Given the description of an element on the screen output the (x, y) to click on. 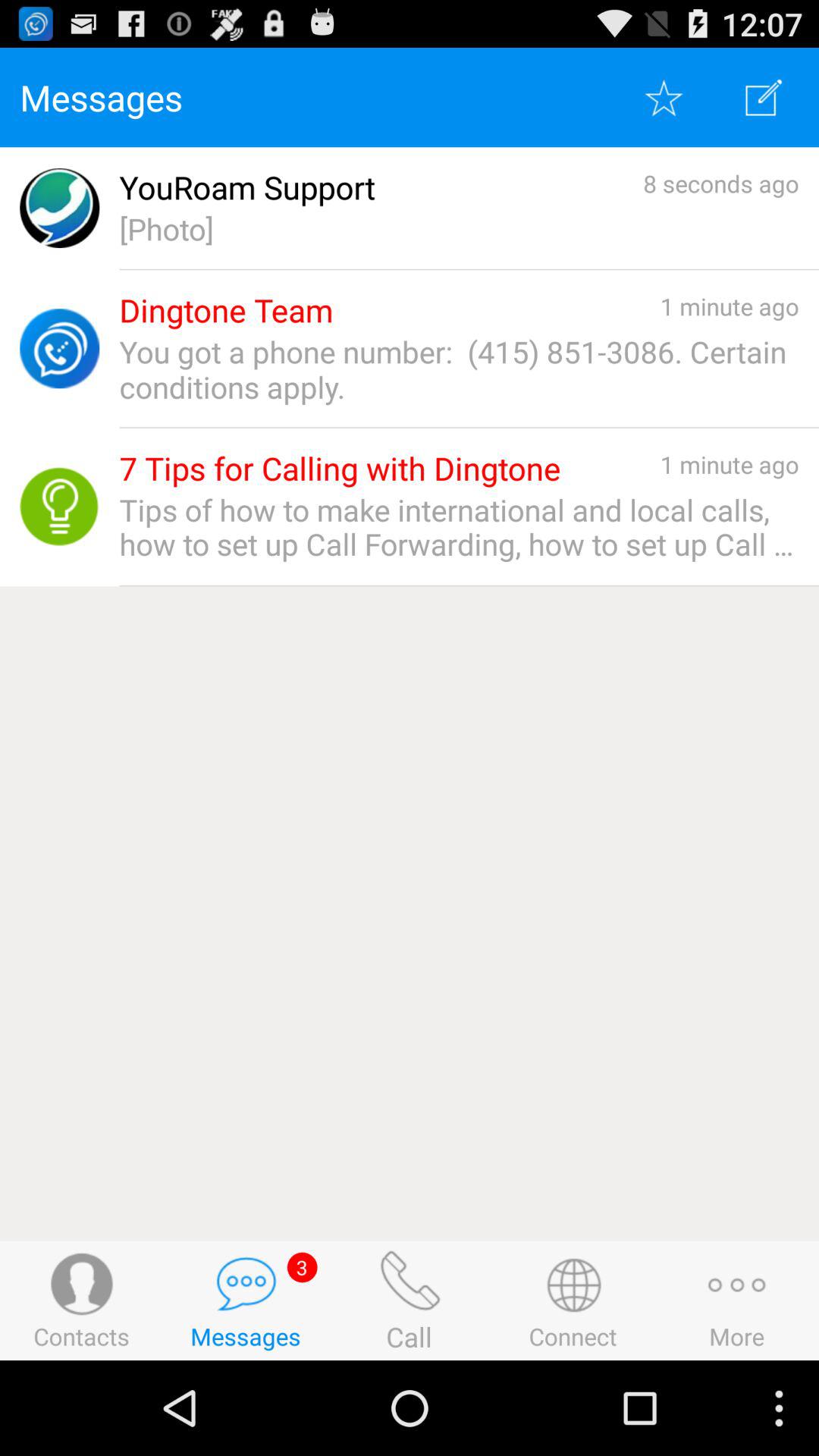
turn off icon above the you got a item (226, 310)
